Given the description of an element on the screen output the (x, y) to click on. 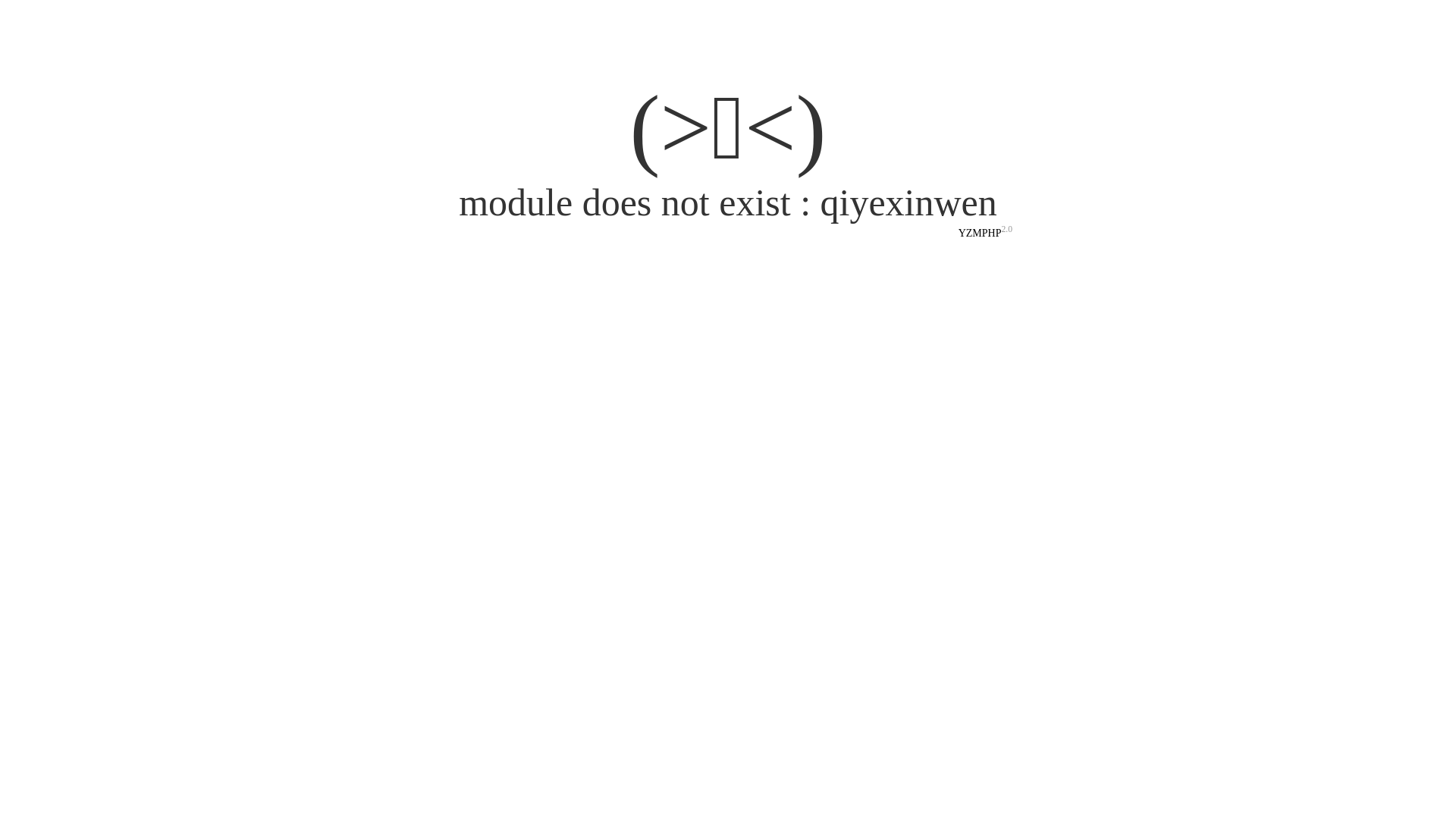
YZMPHP Element type: text (979, 232)
